Given the description of an element on the screen output the (x, y) to click on. 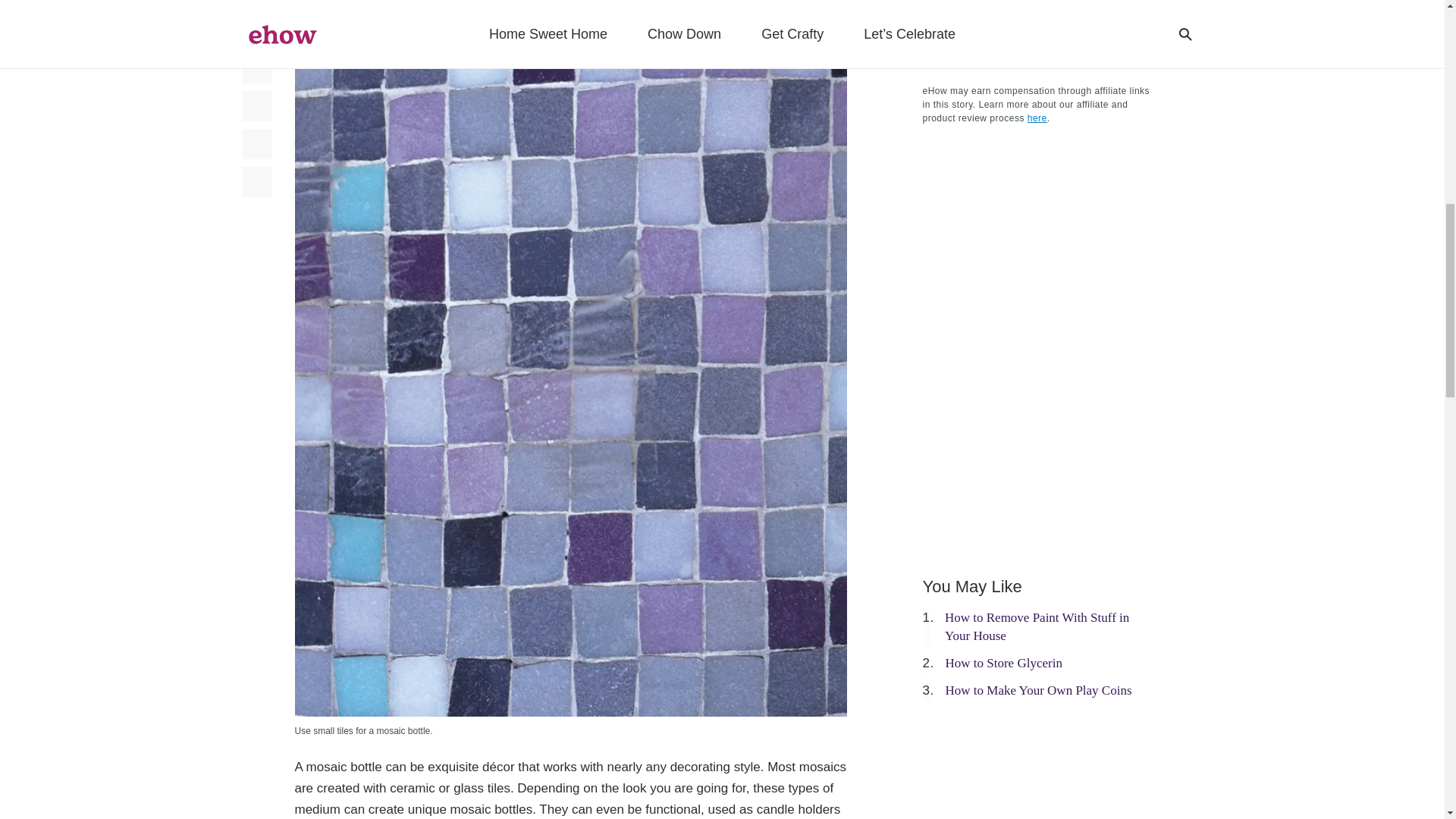
How to Make Your Own Play Coins (1037, 690)
How to Store Glycerin (1002, 663)
How to Remove Paint With Stuff in Your House (1036, 626)
